Given the description of an element on the screen output the (x, y) to click on. 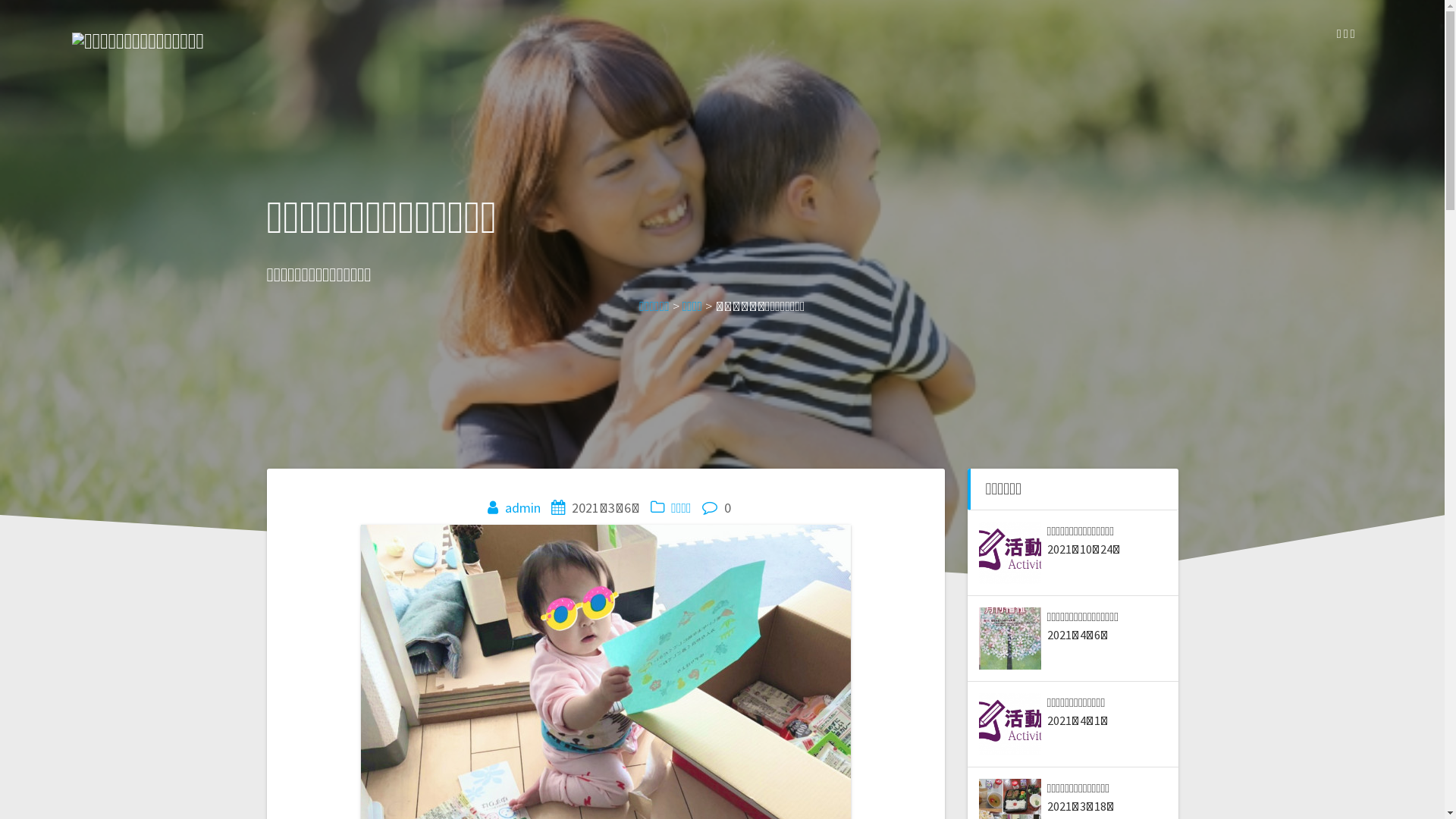
admin Element type: text (522, 507)
